Given the description of an element on the screen output the (x, y) to click on. 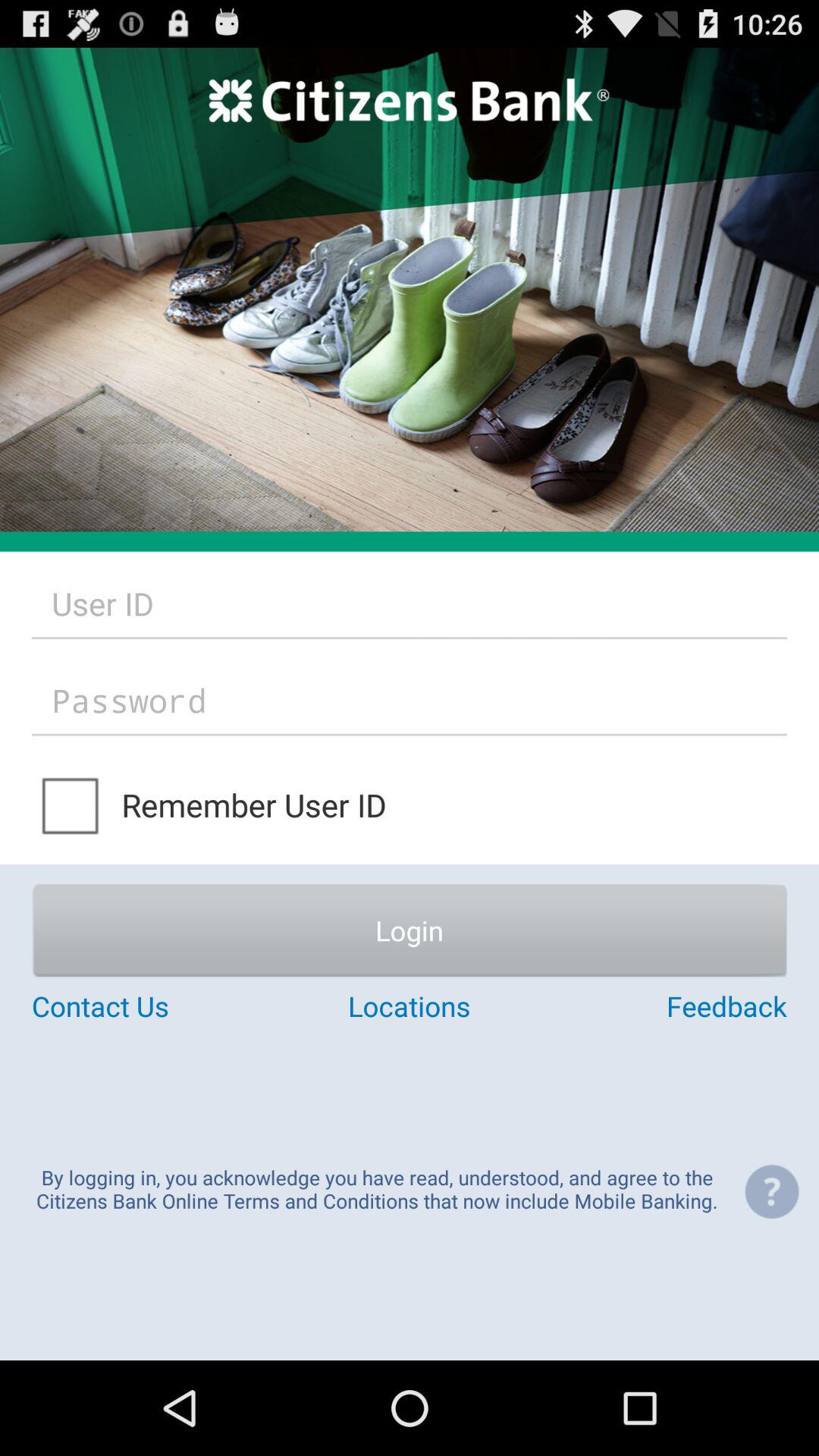
tap the item next to the by logging in (771, 1191)
